Given the description of an element on the screen output the (x, y) to click on. 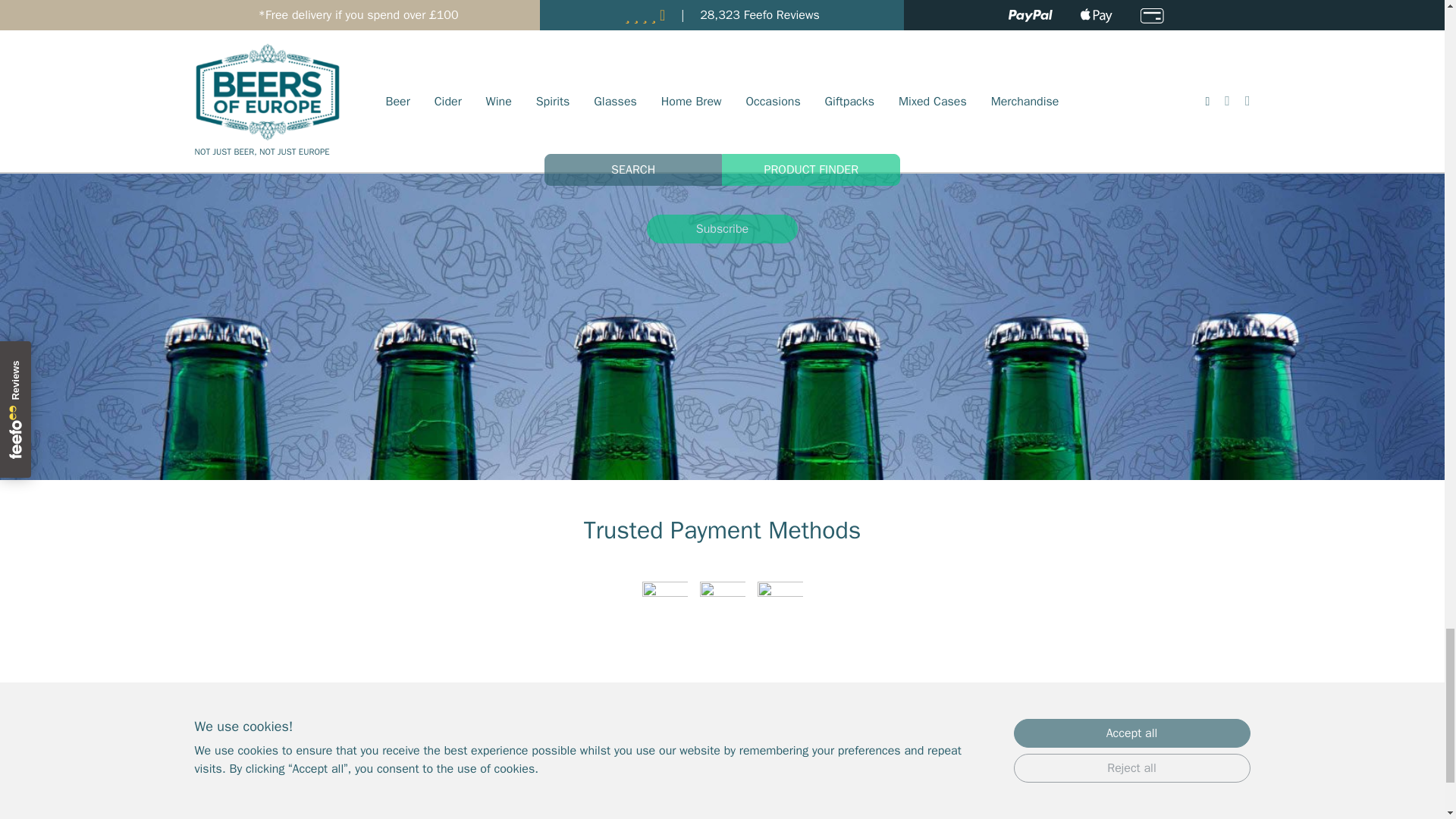
Maestro (779, 604)
Mastercard (721, 604)
Visa (664, 604)
Subscribe (721, 228)
